Given the description of an element on the screen output the (x, y) to click on. 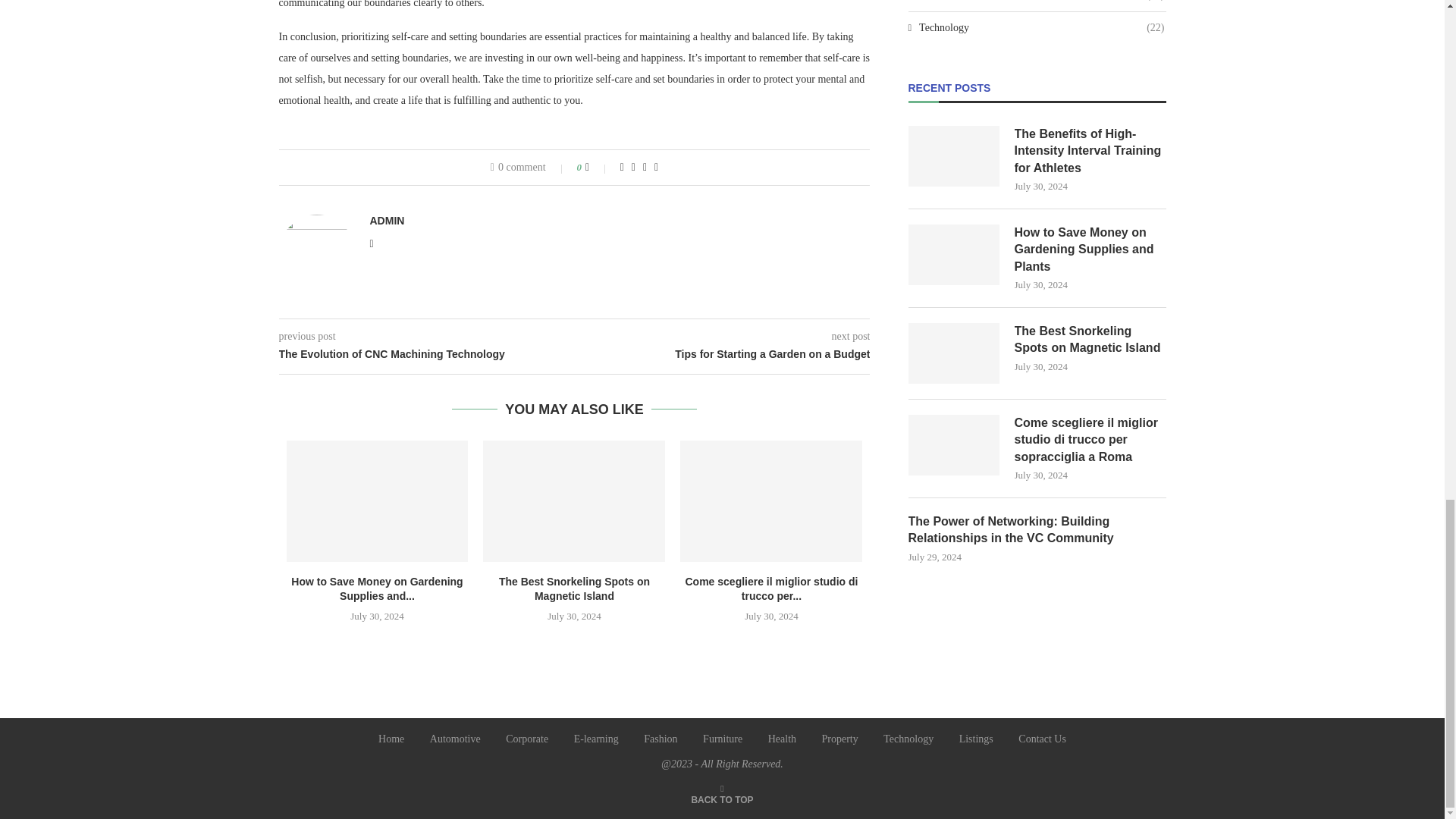
How to Save Money on Gardening Supplies and Plants (377, 500)
ADMIN (386, 220)
Like (597, 167)
Author admin (386, 220)
The Best Snorkeling Spots on Magnetic Island (574, 500)
